Given the description of an element on the screen output the (x, y) to click on. 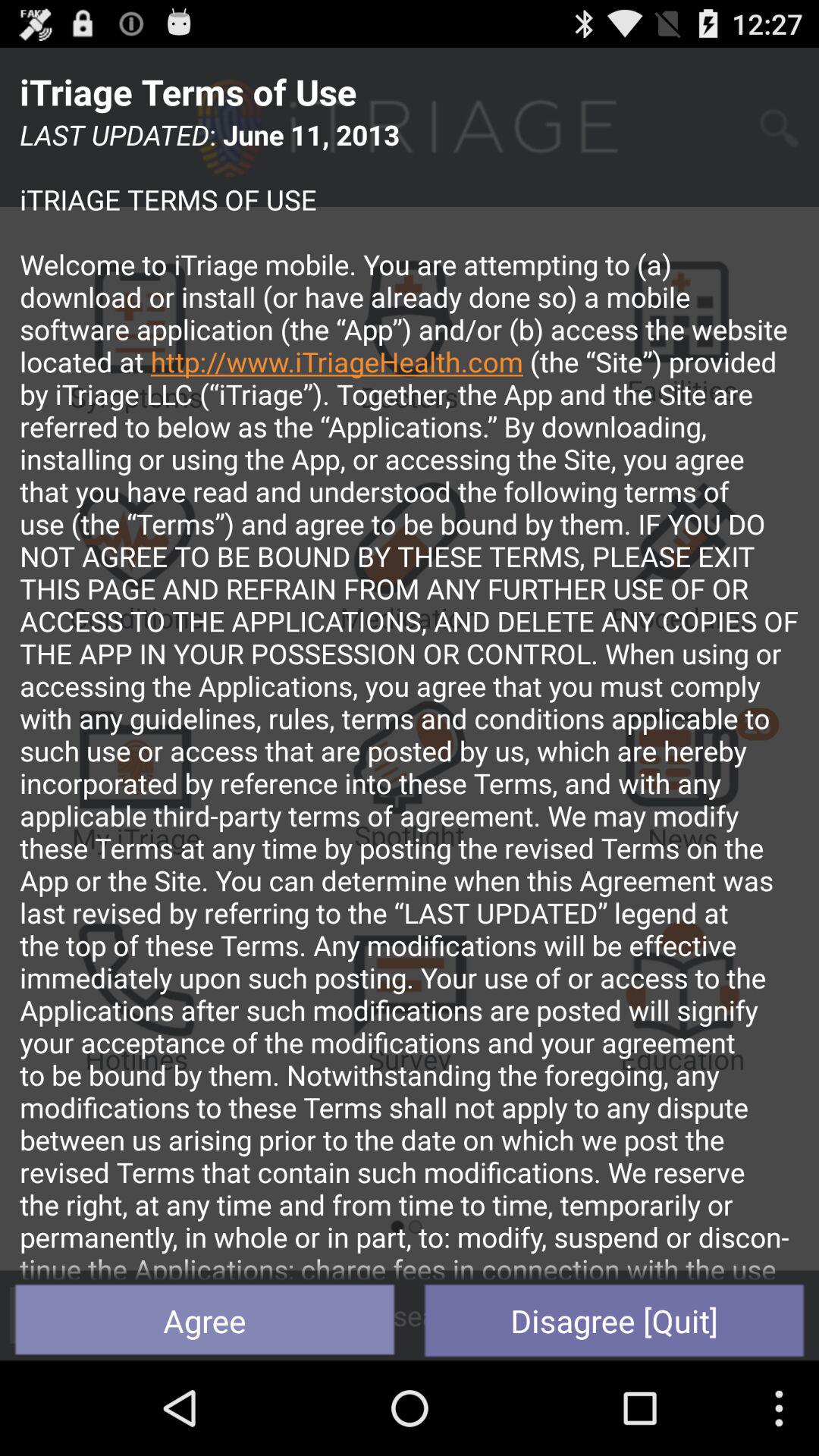
turn on last updated june app (409, 698)
